Given the description of an element on the screen output the (x, y) to click on. 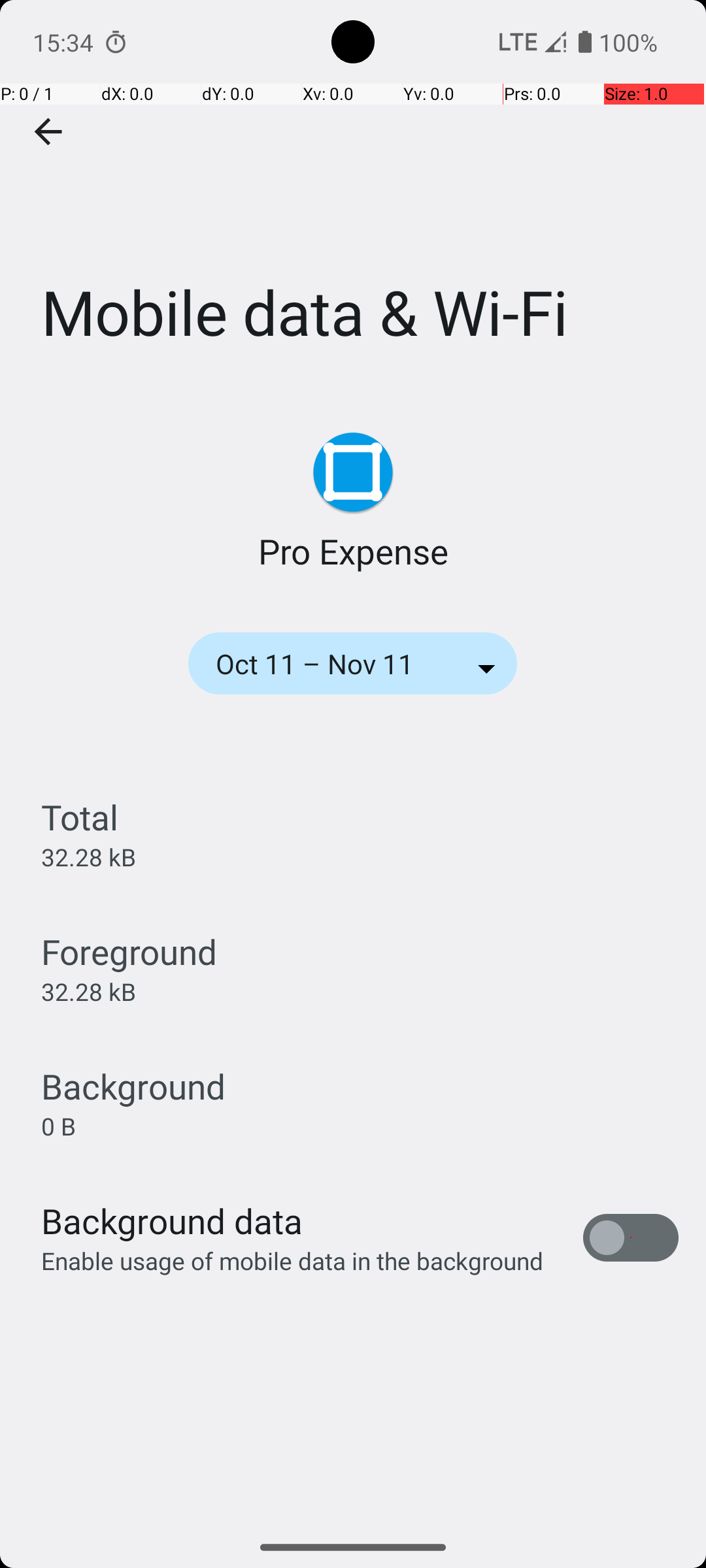
32.28 kB Element type: android.widget.TextView (88, 856)
Foreground Element type: android.widget.TextView (129, 951)
Background Element type: android.widget.TextView (133, 1085)
Background data Element type: android.widget.TextView (171, 1220)
Enable usage of mobile data in the background Element type: android.widget.TextView (292, 1260)
Oct 11 – Nov 11 Element type: android.widget.TextView (331, 663)
